Given the description of an element on the screen output the (x, y) to click on. 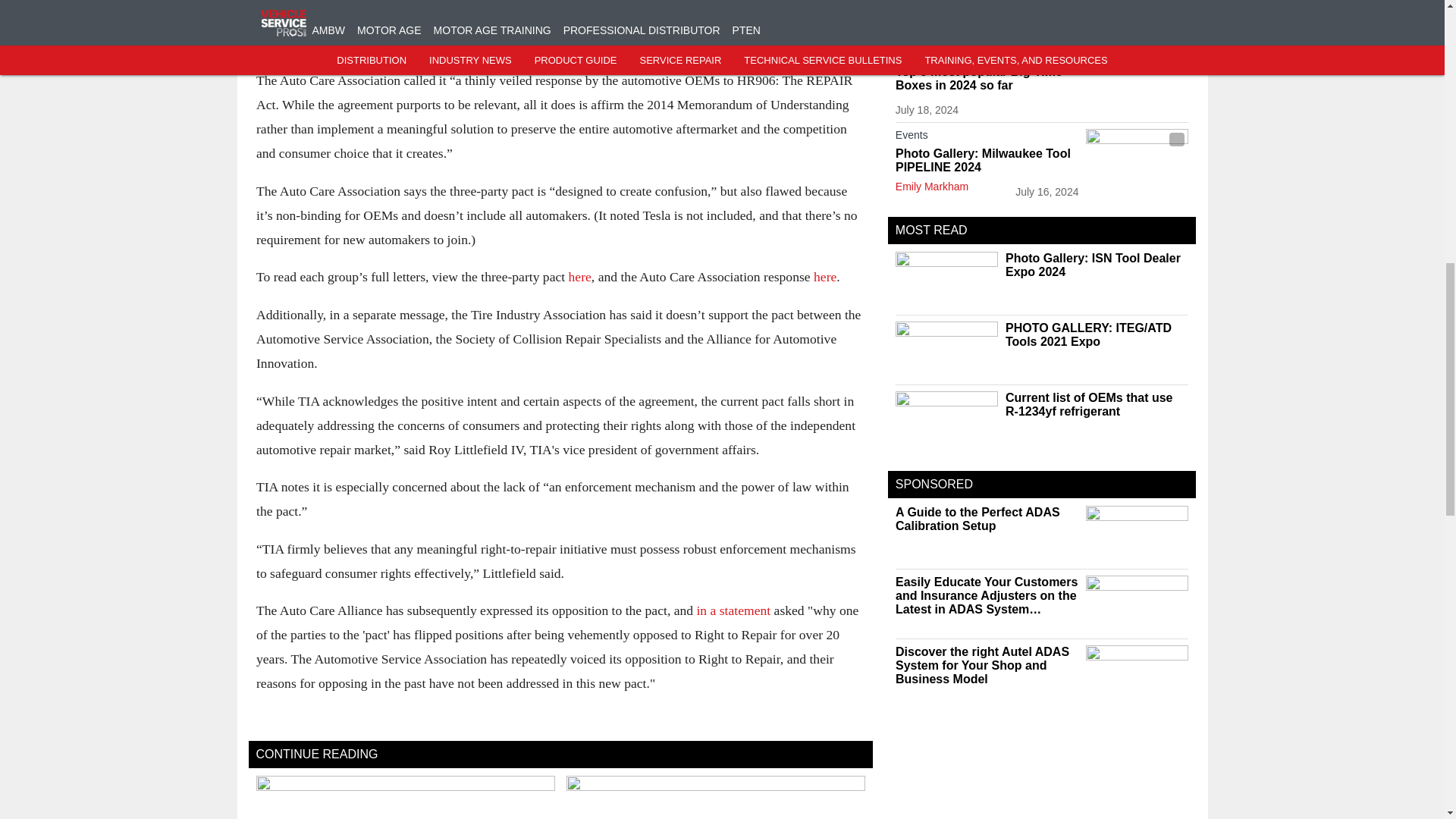
here (824, 276)
LATEST IN SERVICE REPAIR (977, 24)
Service Repair (986, 55)
in a statement (732, 610)
here (579, 276)
